Given the description of an element on the screen output the (x, y) to click on. 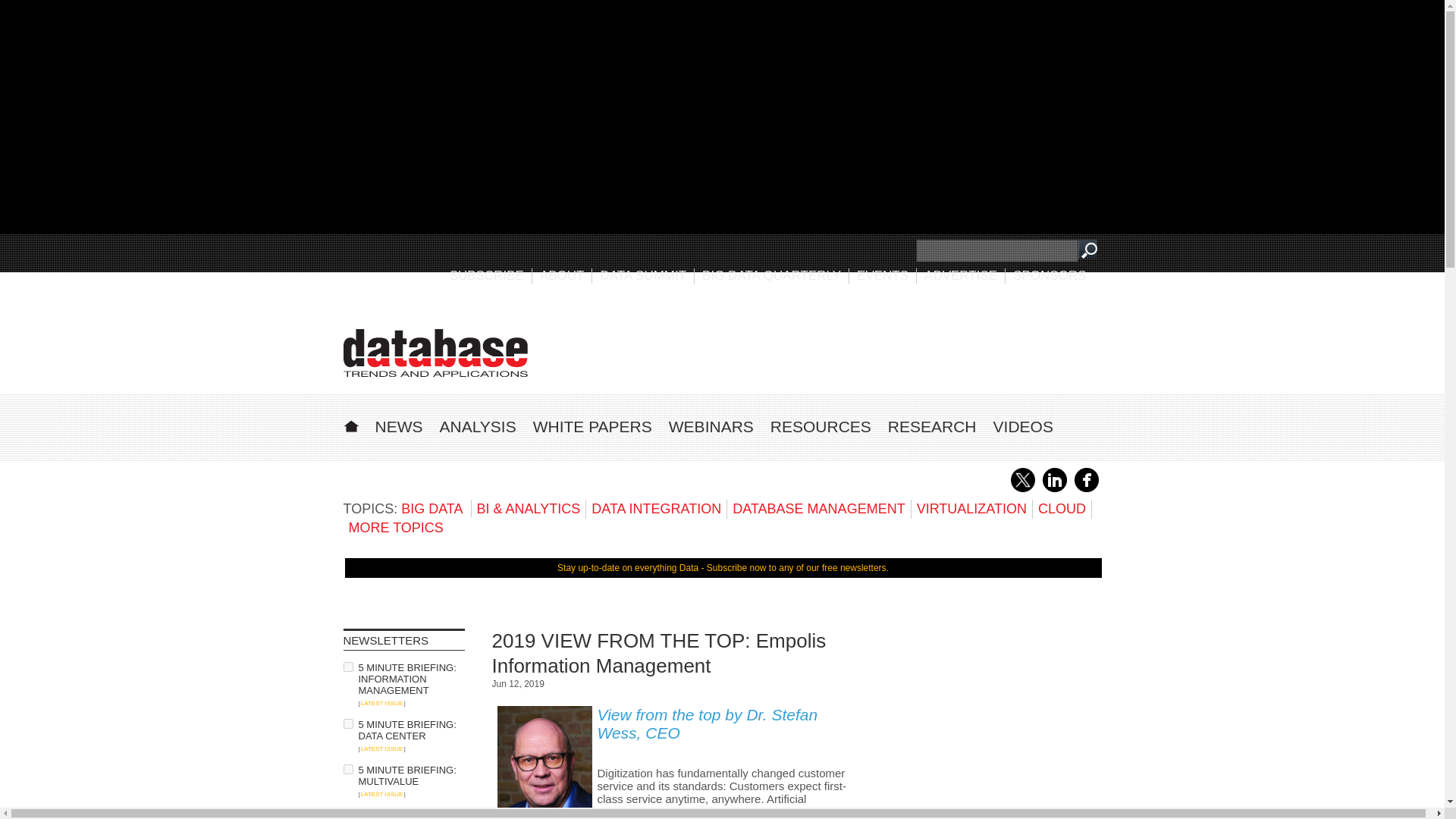
HOME (350, 424)
DBTA on Facebook (1085, 489)
SPONSORS (1049, 275)
RESOURCES (820, 425)
on (347, 768)
VIDEOS (1022, 425)
RESEARCH (932, 425)
on (347, 723)
WEBINARS (711, 425)
DATA SUMMIT (642, 275)
